Given the description of an element on the screen output the (x, y) to click on. 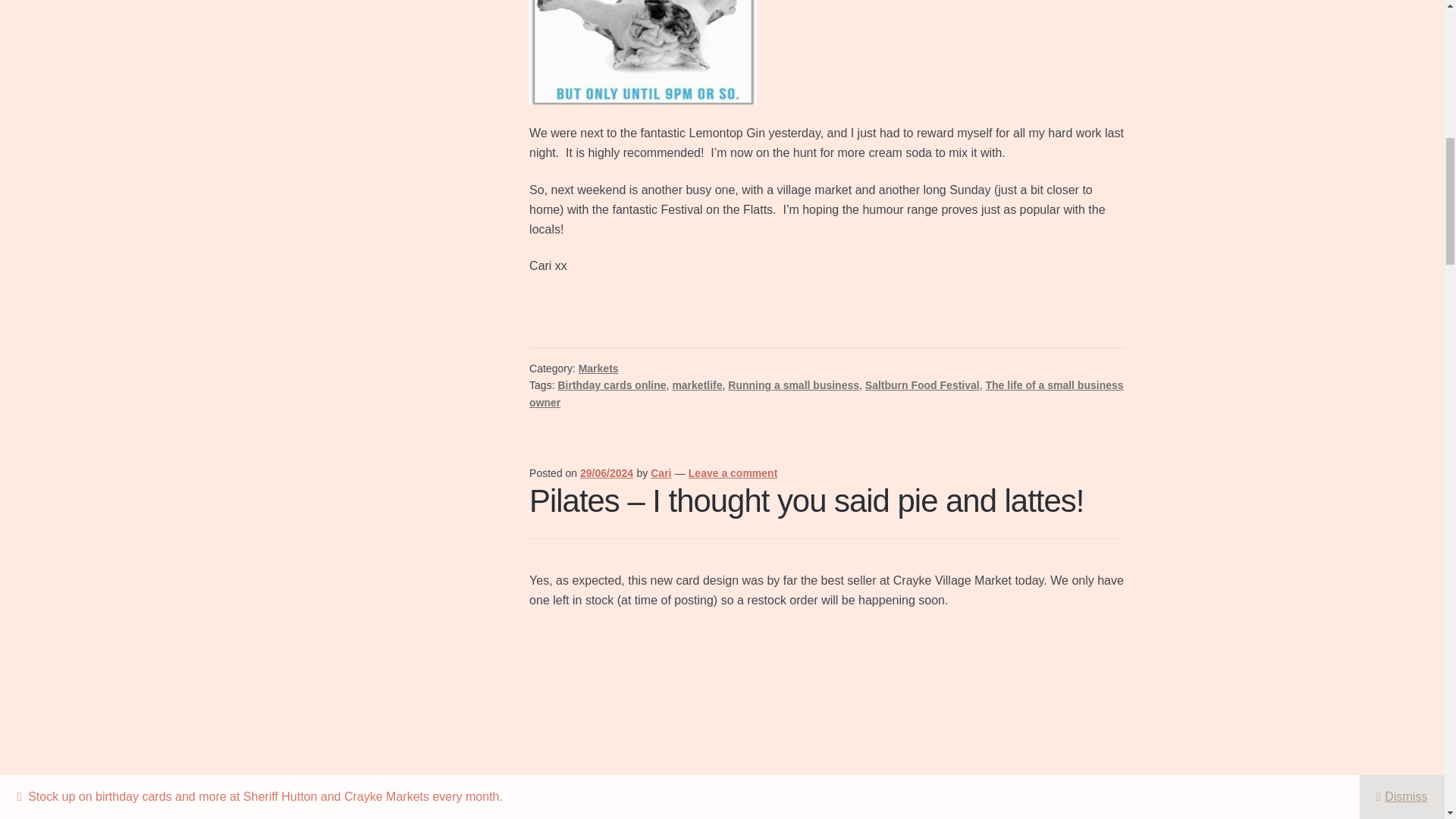
marketlife (696, 385)
Leave a comment (732, 472)
Markets (598, 368)
Cari (660, 472)
Saltburn Food Festival (921, 385)
The life of a small business owner (825, 393)
Running a small business (793, 385)
Birthday cards online (611, 385)
